Given the description of an element on the screen output the (x, y) to click on. 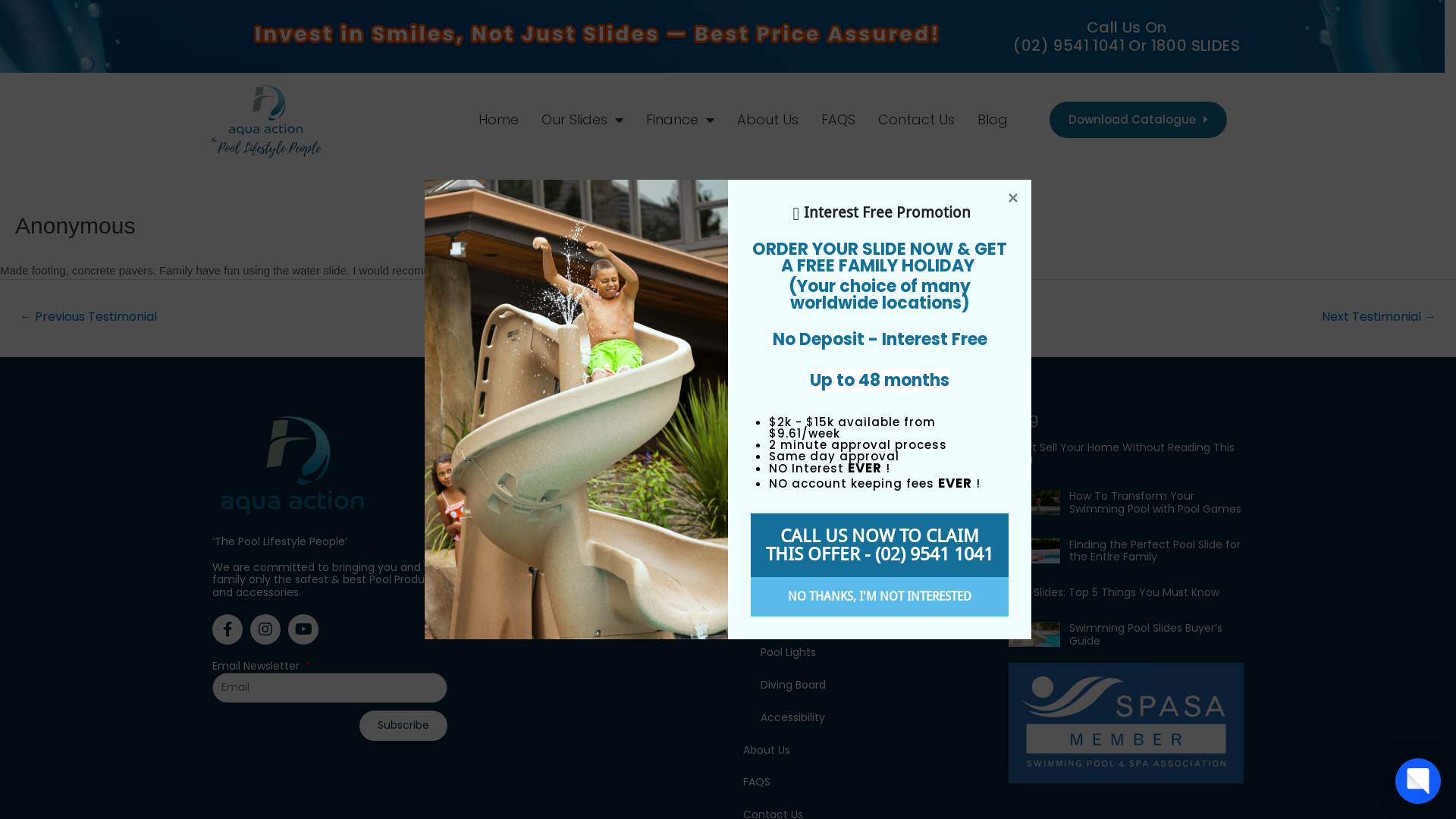
Blog Element type: text (992, 119)
How To Transform Your Swimming Pool with Pool Games Element type: text (1155, 502)
CALL US NOW TO CLAIM THIS OFFER - (02) 9541 1041 Element type: text (879, 545)
FAQS Element type: text (837, 119)
Pool Slides: Top 5 Things You Must Know Element type: text (1113, 591)
Top Panel Text Element type: hover (595, 34)
Pool Lights Element type: text (868, 652)
FAQS Element type: text (860, 781)
Subscribe Element type: text (403, 725)
Diving Board Element type: text (868, 684)
Download Catalogue Element type: text (1137, 119)
About Us Element type: text (767, 119)
info@slides.net.au Element type: text (594, 534)
Pool Rails & Ladders Element type: text (868, 587)
Pool Furniture Element type: text (868, 555)
Home Element type: text (860, 457)
Home Element type: text (498, 119)
Contact Us Element type: text (916, 119)
Finding the Perfect Pool Slide for the Entire Family Element type: text (1154, 550)
Slides Element type: text (860, 522)
Close Element type: hover (1012, 197)
NO THANKS, I'M NOT INTERESTED Element type: text (879, 596)
Shop Element type: text (860, 489)
About Us Element type: text (860, 750)
02 9541 1041 Element type: text (594, 509)
Accessibility Element type: text (868, 717)
Our Slides Element type: text (582, 119)
Finance Element type: text (679, 119)
1800 754 337 Element type: text (594, 484)
Pool Games Element type: text (868, 619)
